Given the description of an element on the screen output the (x, y) to click on. 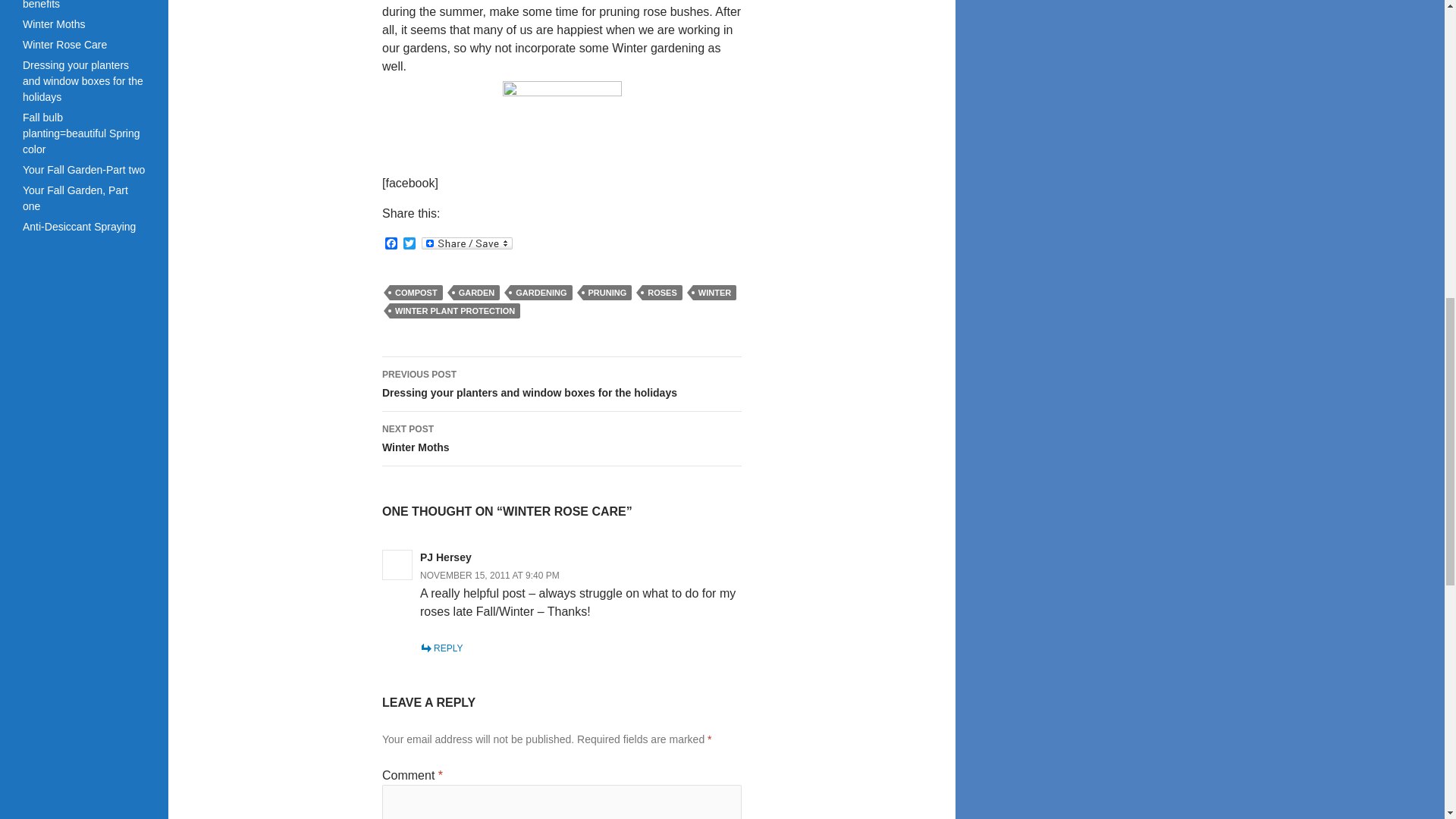
WINTER (714, 292)
GARDENING (541, 292)
Facebook (390, 244)
NOVEMBER 15, 2011 AT 9:40 PM (489, 575)
PRUNING (607, 292)
PJ Hersey (445, 557)
COMPOST (416, 292)
Facebook (390, 244)
GARDEN (476, 292)
Twitter (561, 438)
WINTER PLANT PROTECTION (409, 244)
Twitter (454, 310)
ROSES (409, 244)
